Given the description of an element on the screen output the (x, y) to click on. 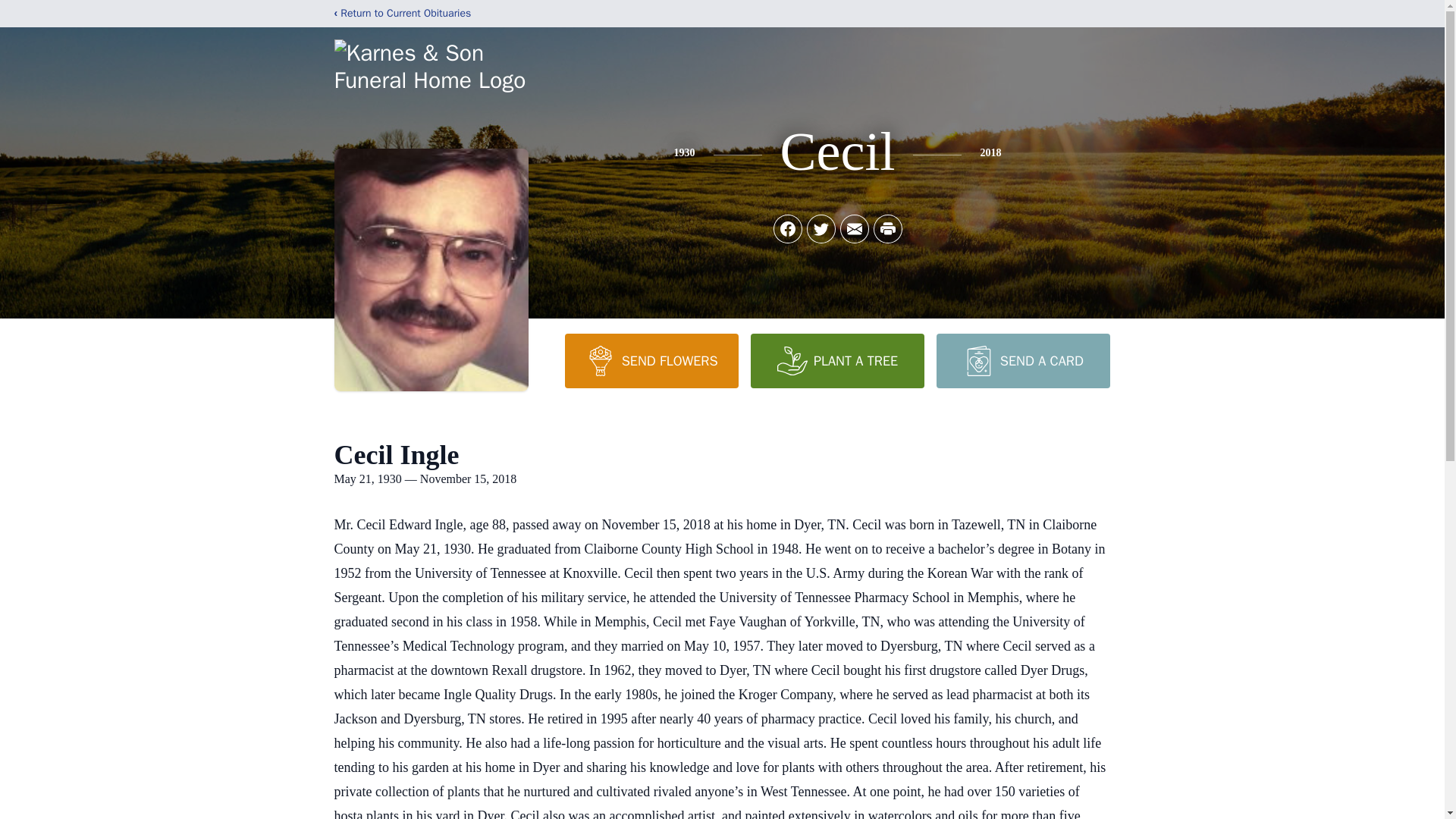
SEND A CARD (1022, 360)
PLANT A TREE (837, 360)
SEND FLOWERS (651, 360)
